Given the description of an element on the screen output the (x, y) to click on. 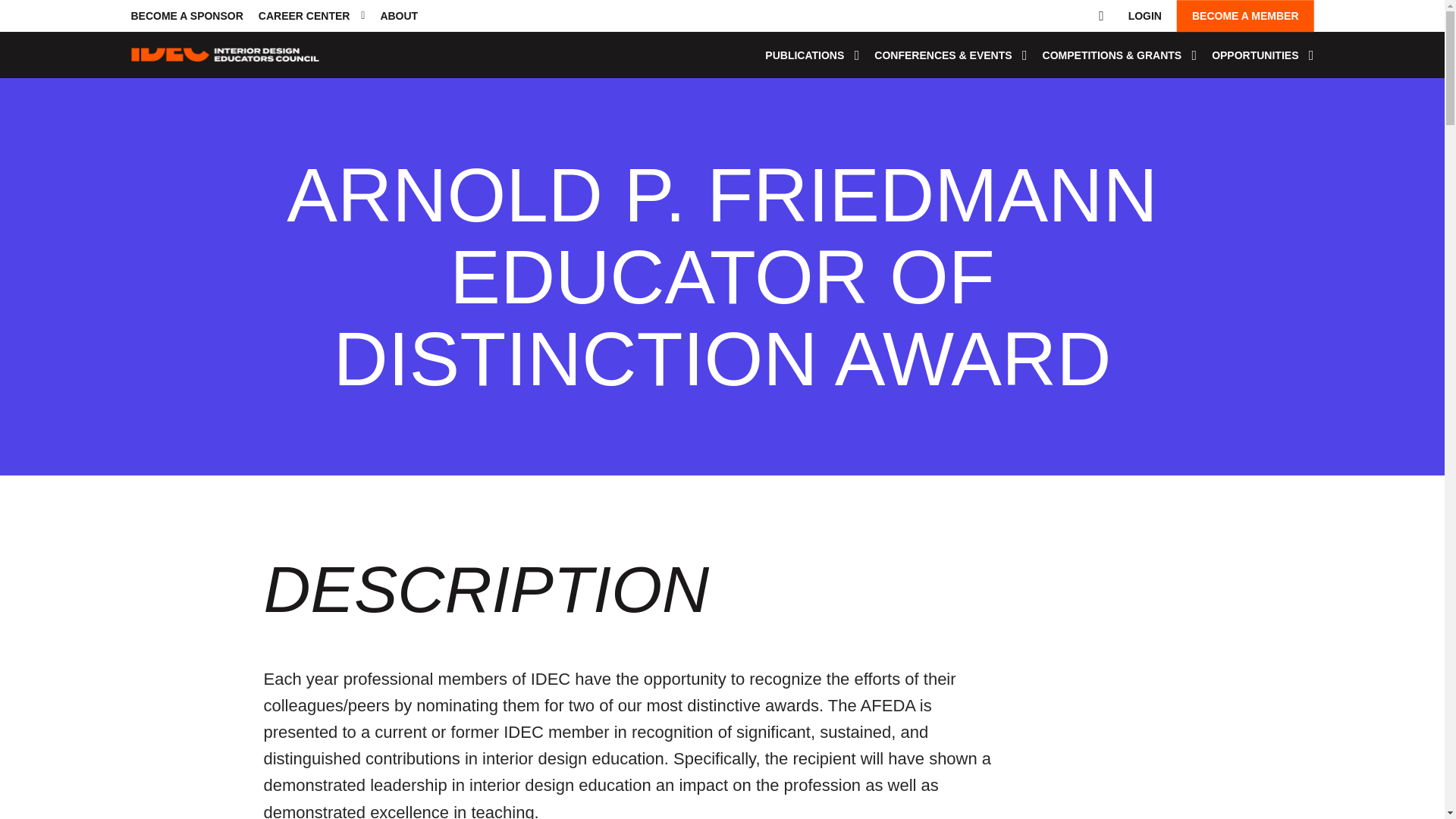
LOGIN (1144, 15)
BECOME A SPONSOR (187, 15)
ABOUT (398, 15)
BECOME A MEMBER (1245, 15)
